Given the description of an element on the screen output the (x, y) to click on. 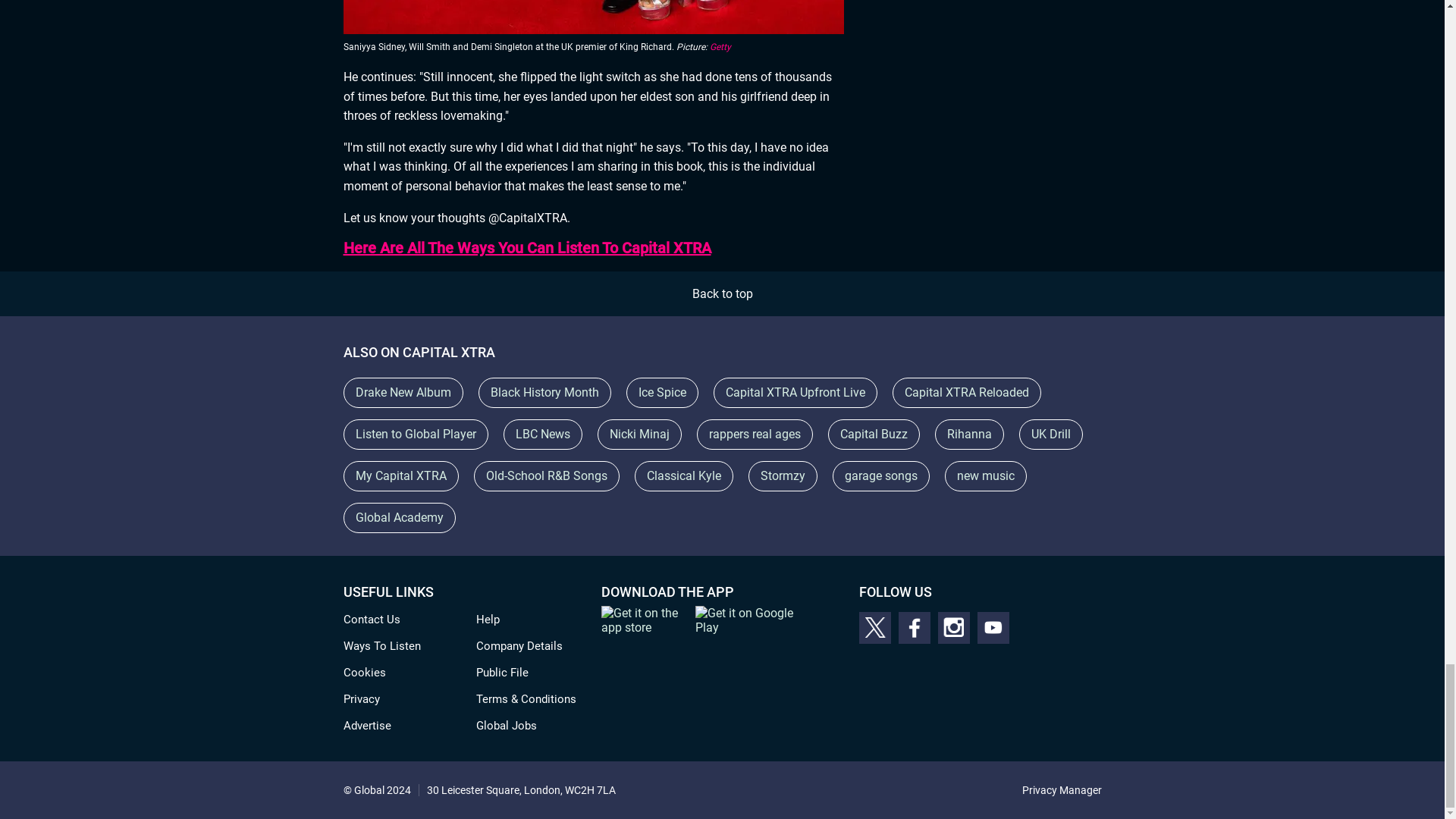
Follow CapitalXtra on Youtube (992, 627)
Follow CapitalXtra on Instagram (953, 627)
Follow CapitalXtra on X (874, 627)
Follow CapitalXtra on Facebook (914, 627)
Back to top (721, 293)
